Given the description of an element on the screen output the (x, y) to click on. 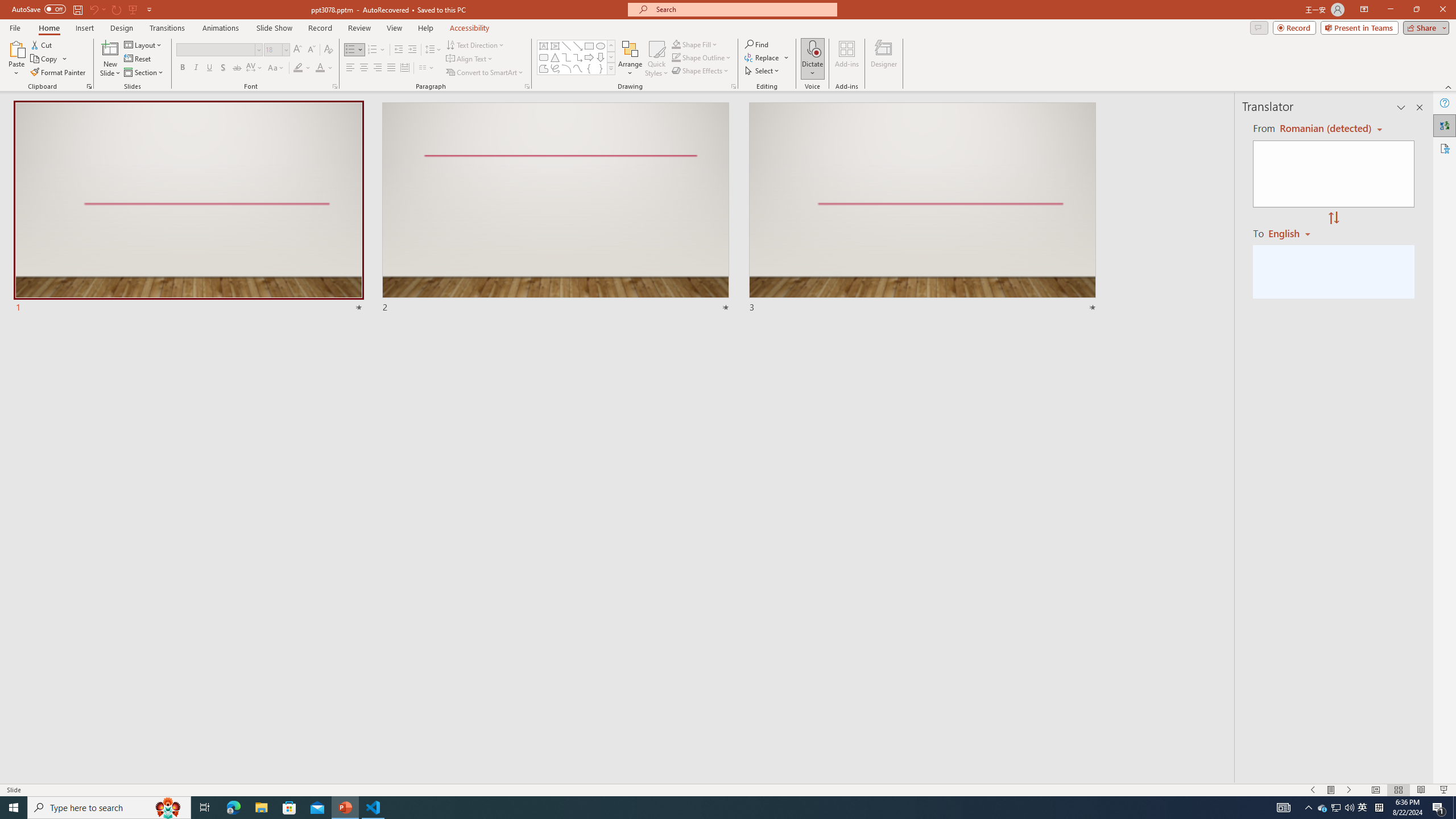
Shadow (223, 67)
Format Painter (58, 72)
Line Arrow (577, 45)
Right Brace (600, 68)
Strikethrough (237, 67)
Decrease Font Size (310, 49)
Format Object... (733, 85)
